Given the description of an element on the screen output the (x, y) to click on. 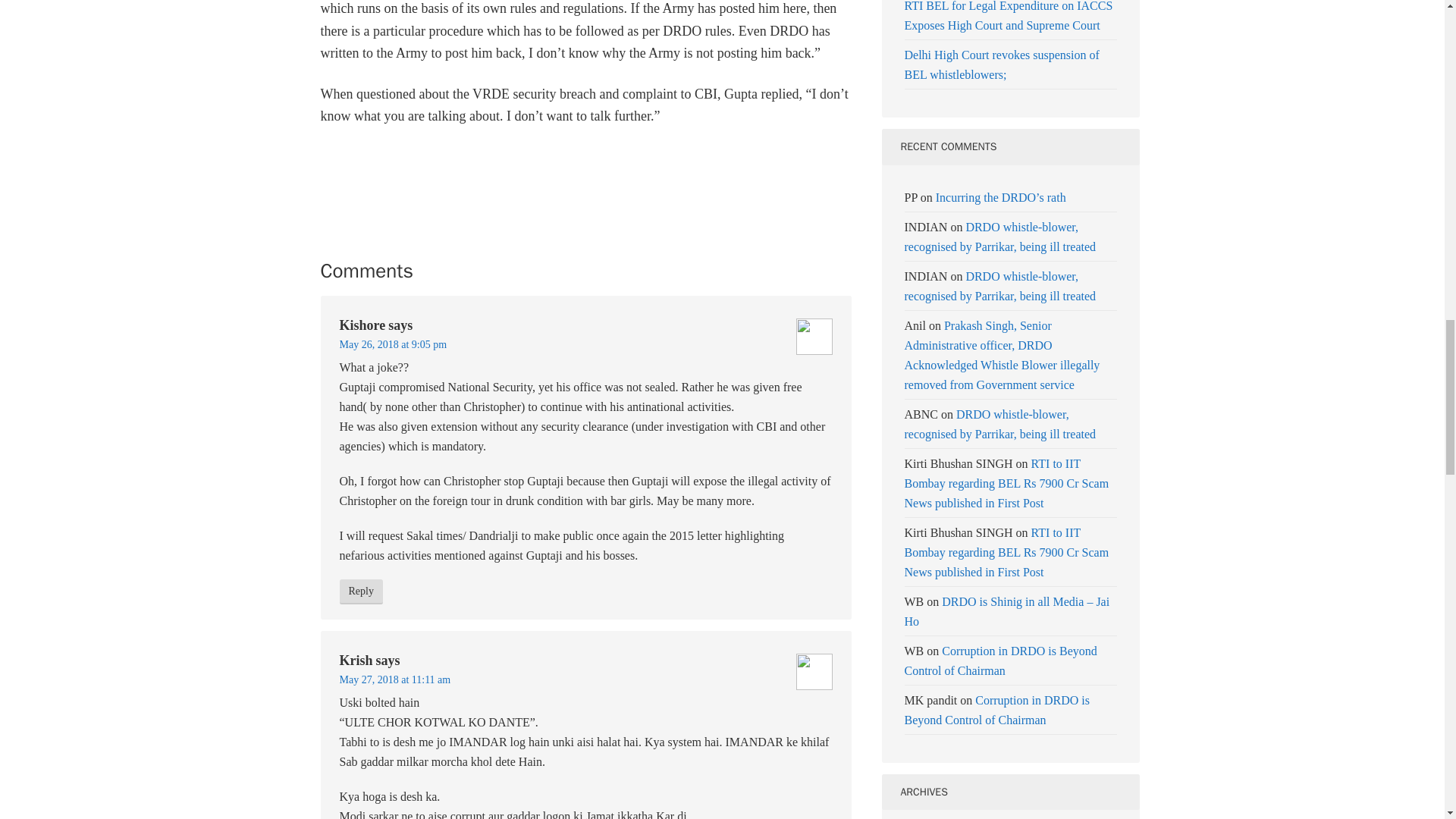
May 26, 2018 at 9:05 pm (392, 344)
Reply (360, 591)
May 27, 2018 at 11:11 am (395, 679)
